Given the description of an element on the screen output the (x, y) to click on. 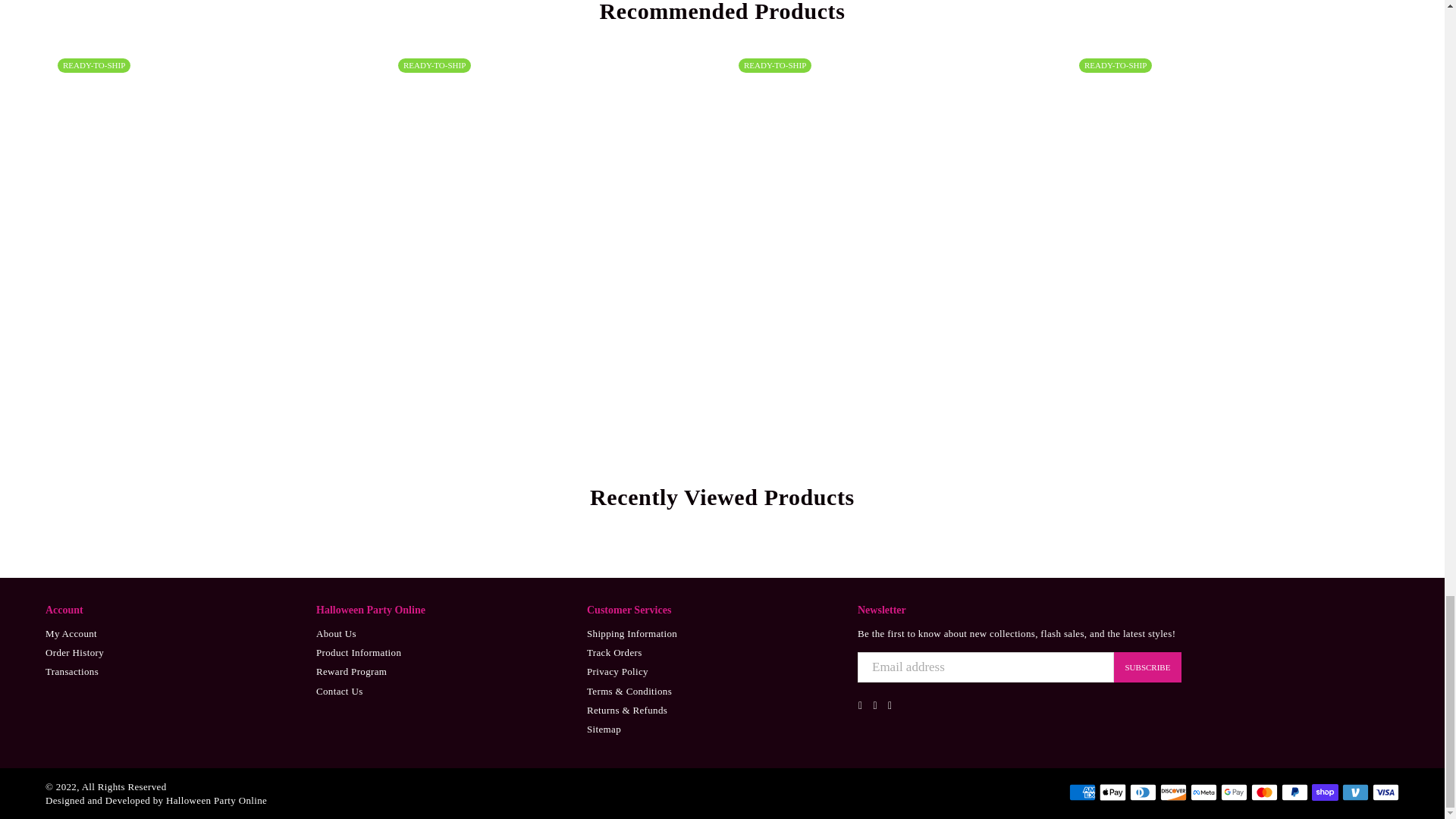
Diners Club (1142, 791)
Visa (1386, 791)
Discover (1173, 791)
Apple Pay (1112, 791)
Mastercard (1264, 791)
American Express (1082, 791)
Google Pay (1234, 791)
Venmo (1355, 791)
Meta Pay (1204, 791)
Shop Pay (1324, 791)
